Given the description of an element on the screen output the (x, y) to click on. 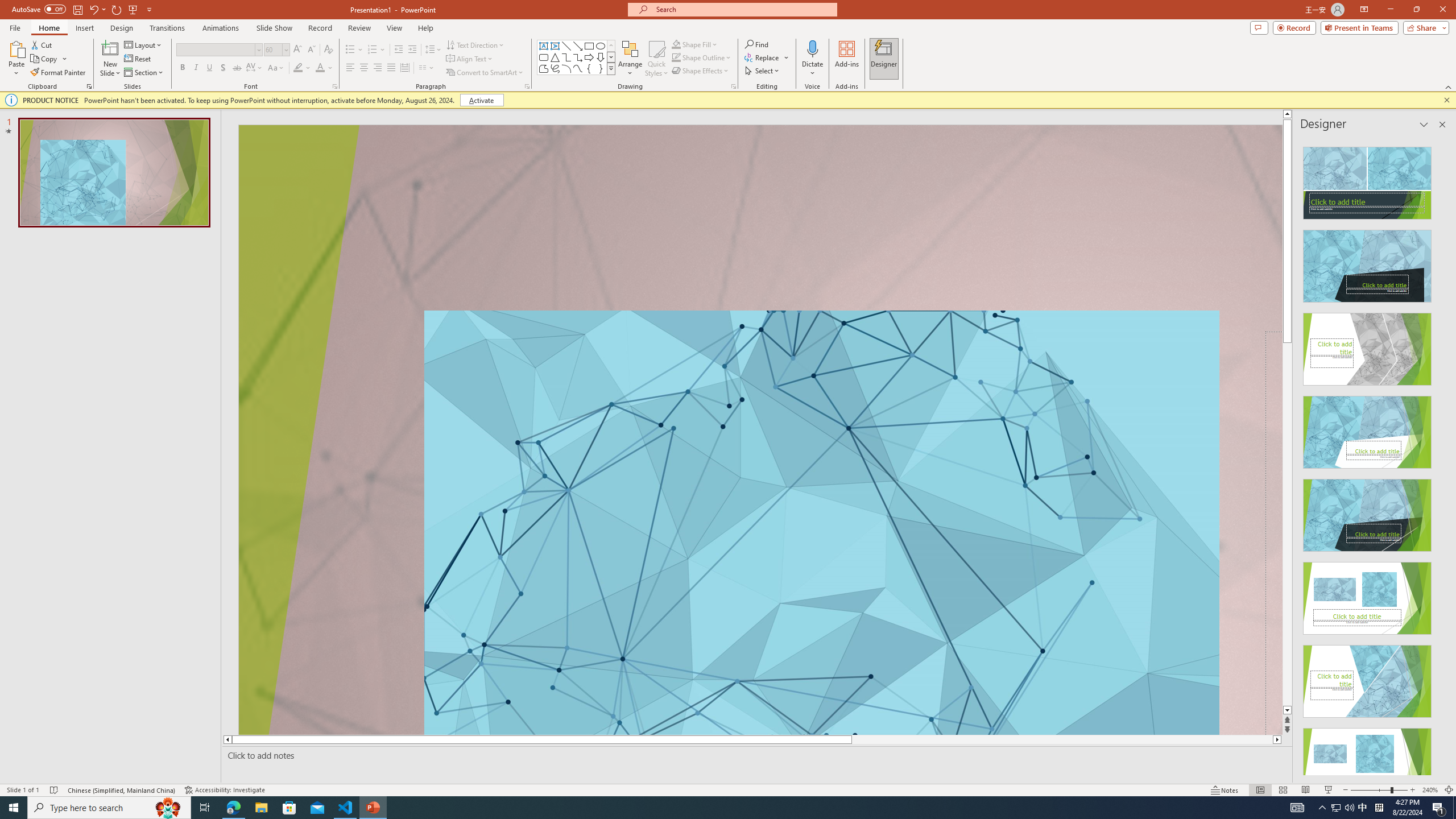
Recommended Design: Design Idea (1366, 179)
Shape Effects (700, 69)
An abstract genetic concept (760, 429)
